Given the description of an element on the screen output the (x, y) to click on. 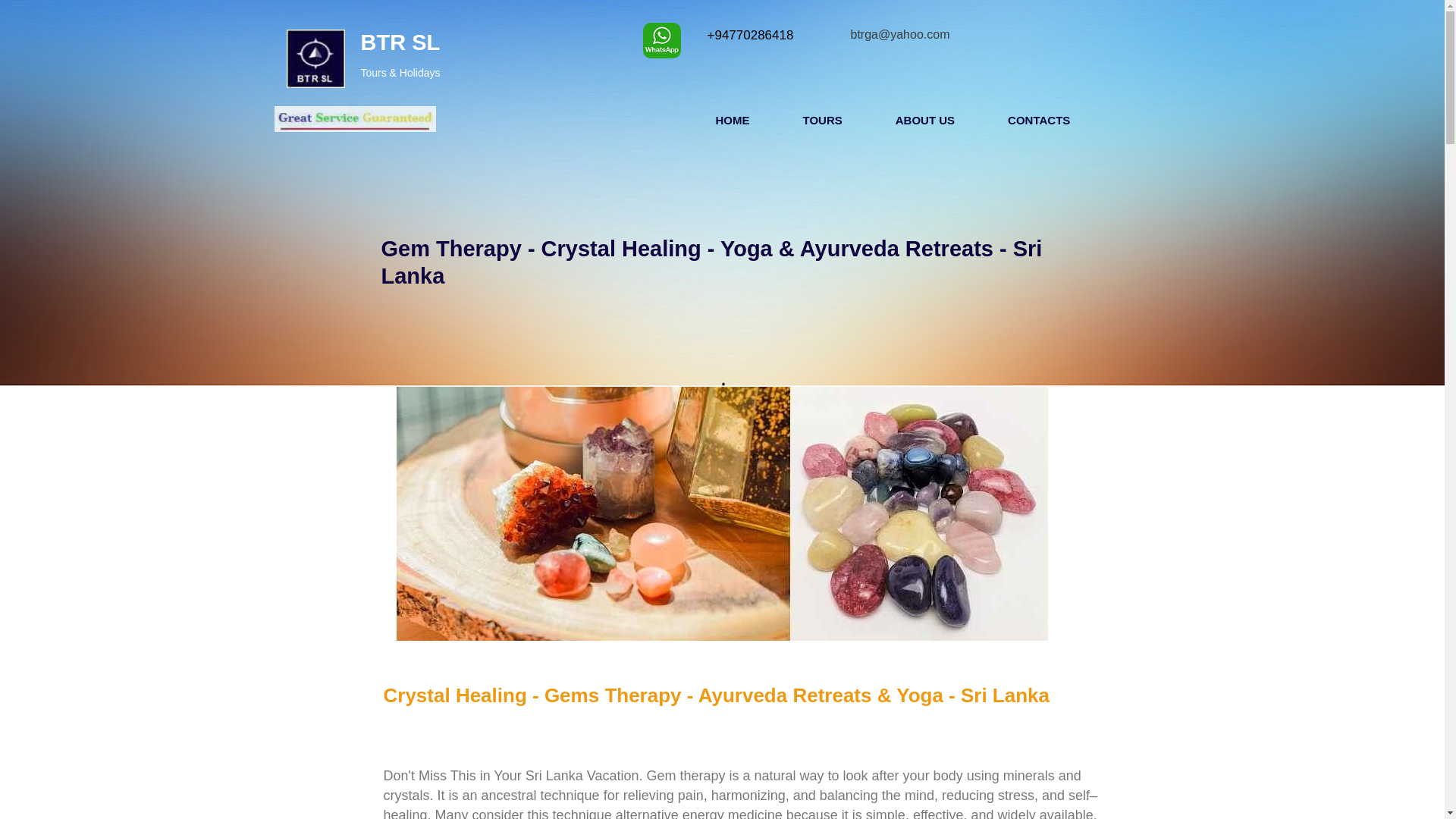
CONTACTS (1038, 120)
ABOUT US (924, 120)
TOURS (822, 120)
HOME (732, 120)
